Given the description of an element on the screen output the (x, y) to click on. 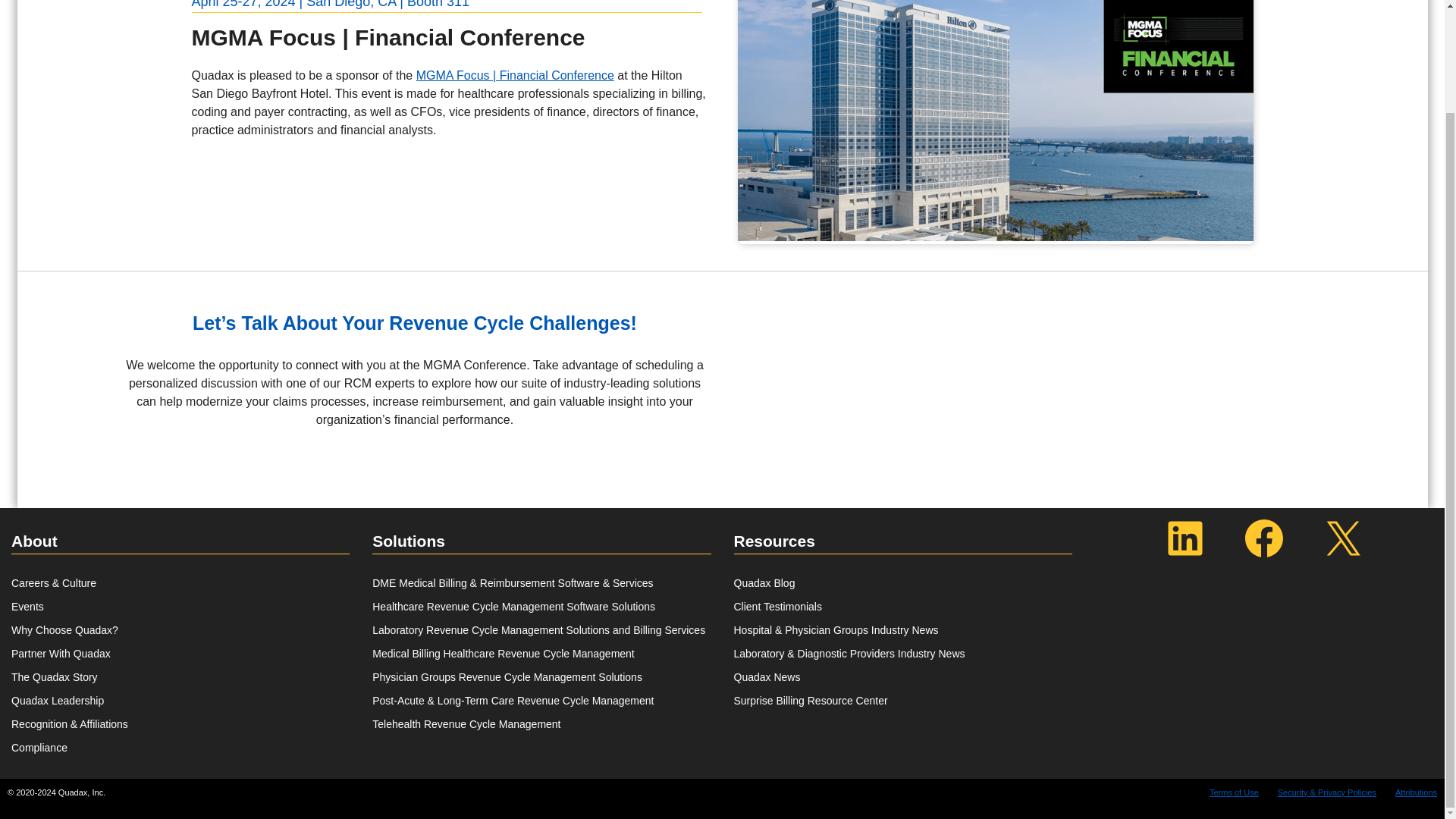
Form 0 (1079, 347)
